Given the description of an element on the screen output the (x, y) to click on. 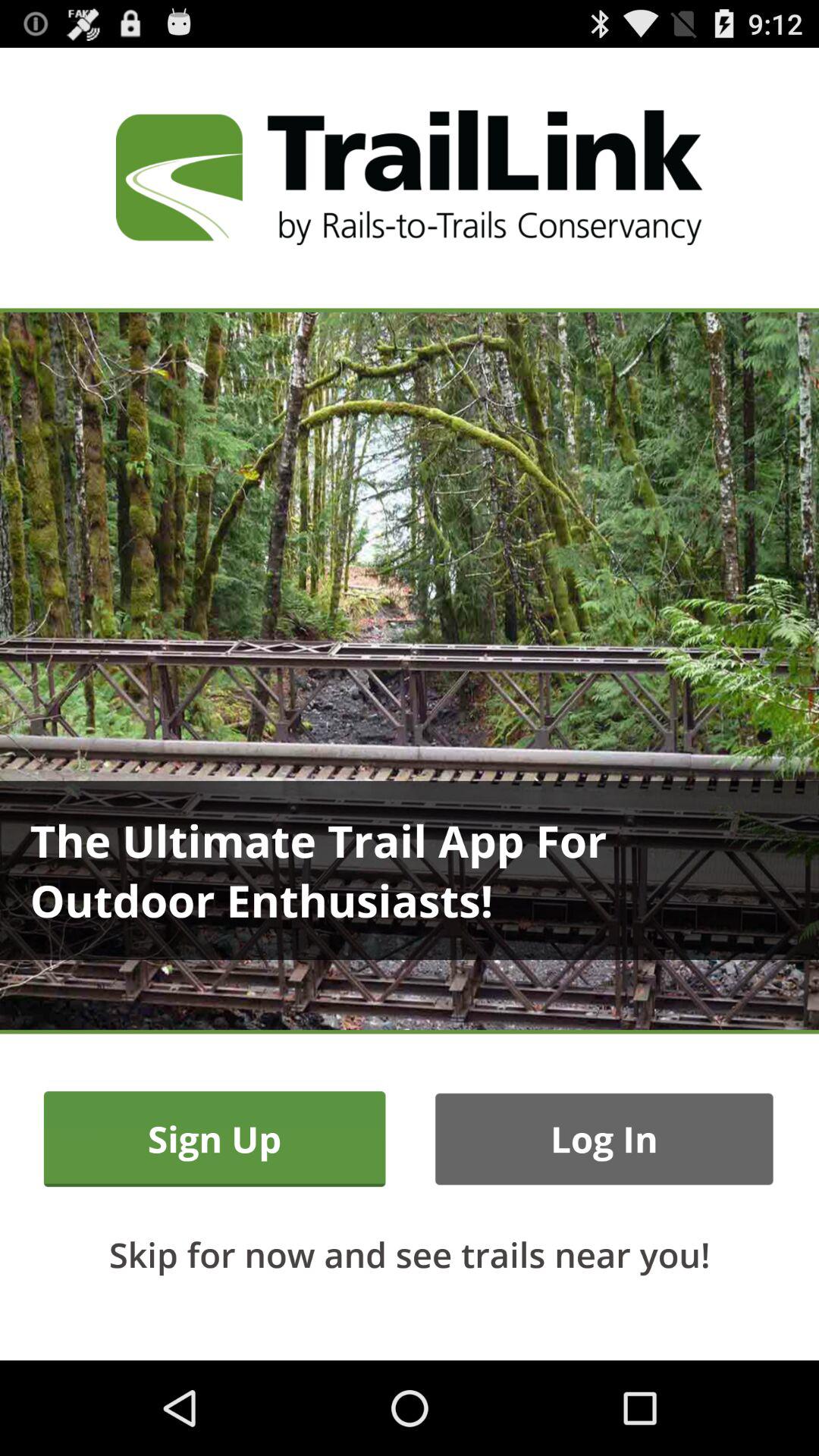
swipe until skip for now item (409, 1254)
